Given the description of an element on the screen output the (x, y) to click on. 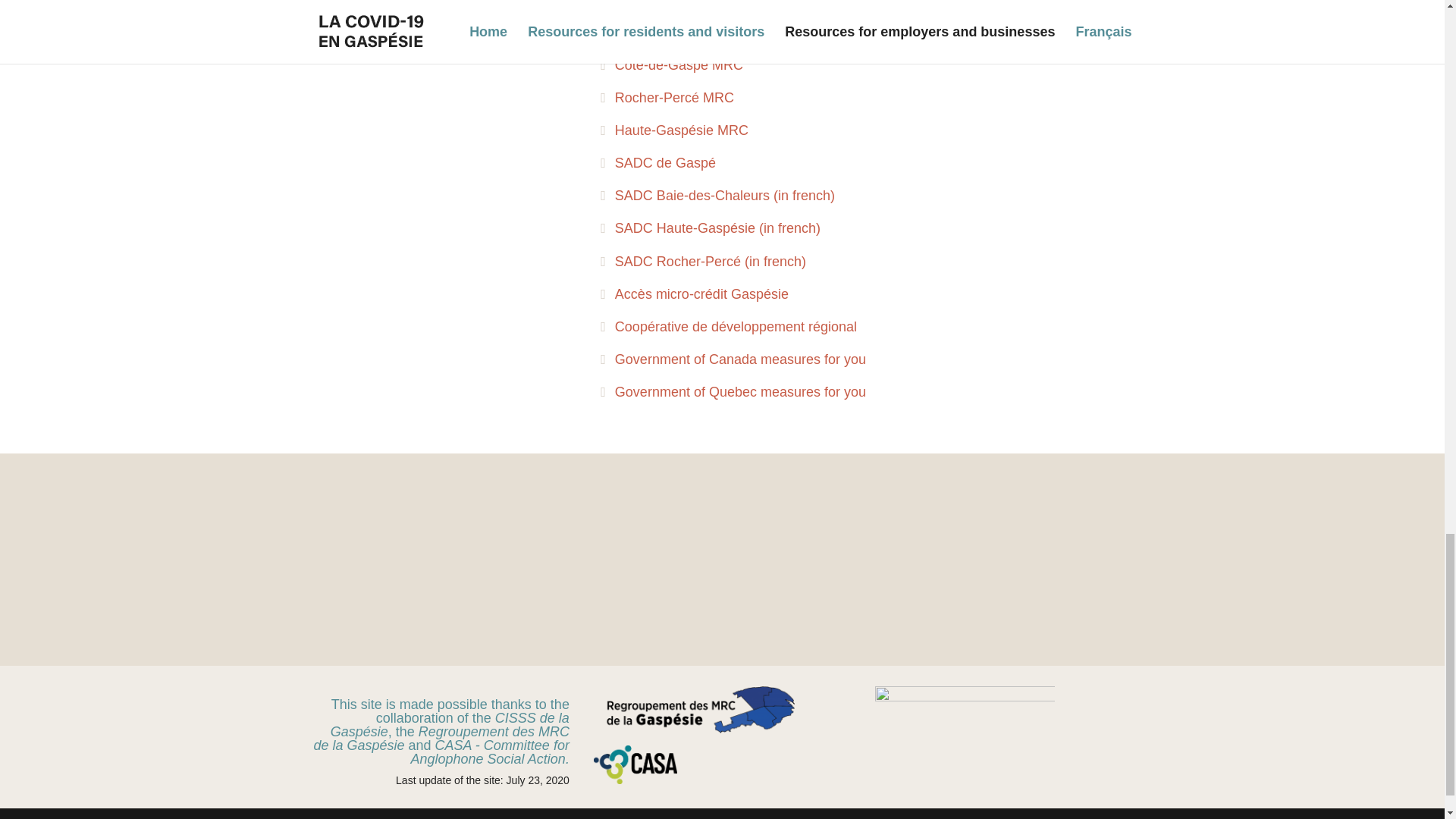
Avignon MRC (648, 31)
Avignon MRC (648, 31)
Bonaventure MRC (662, 3)
Government of Quebec measures for you (732, 391)
Bonaventure MRC (662, 3)
Government of Canada measures for you (732, 359)
